Given the description of an element on the screen output the (x, y) to click on. 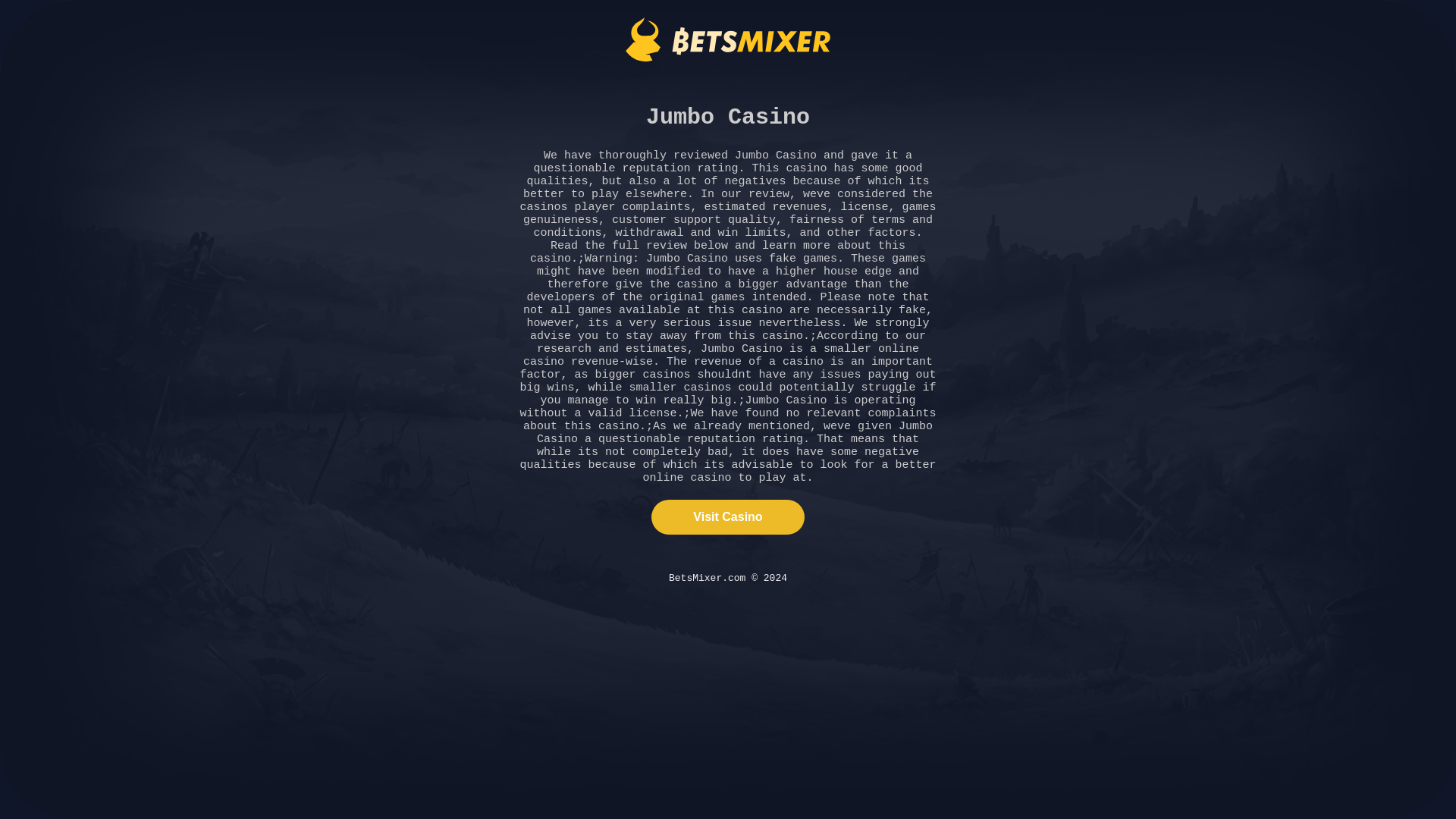
Visit Casino (726, 516)
BetsMixer.com (727, 39)
